Given the description of an element on the screen output the (x, y) to click on. 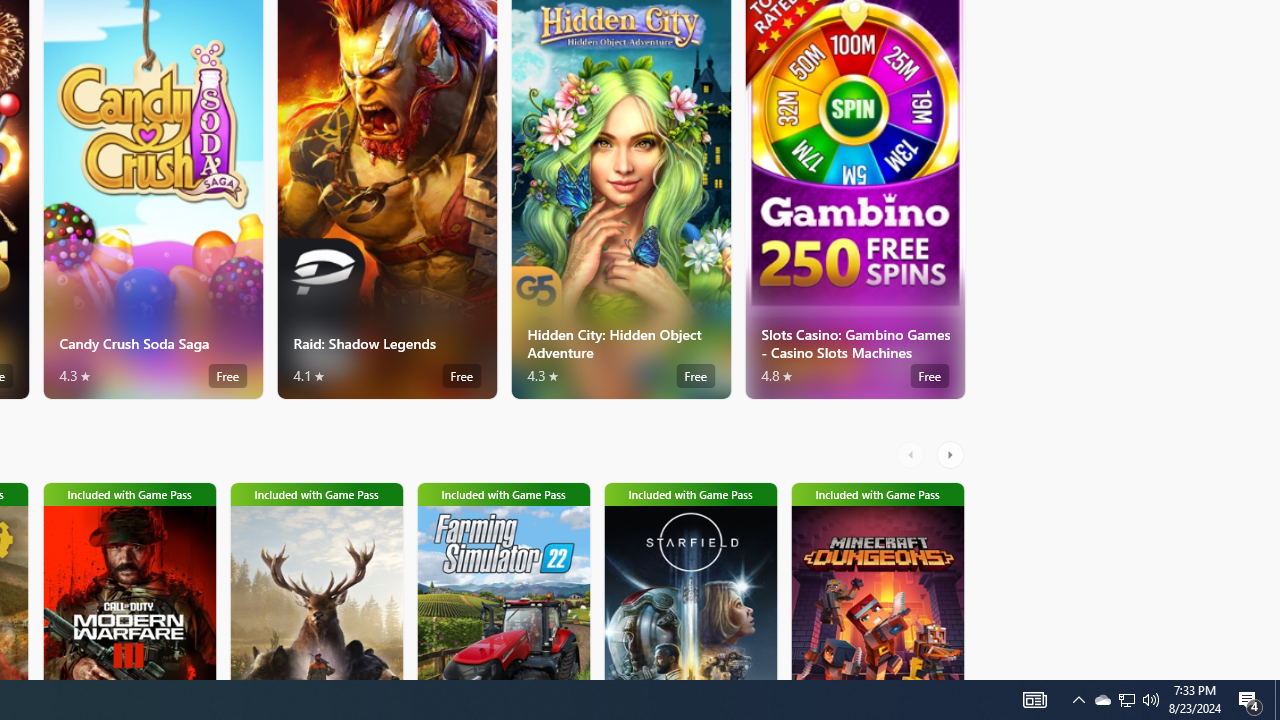
AutomationID: LeftScrollButton (913, 454)
AutomationID: RightScrollButton (952, 454)
